Given the description of an element on the screen output the (x, y) to click on. 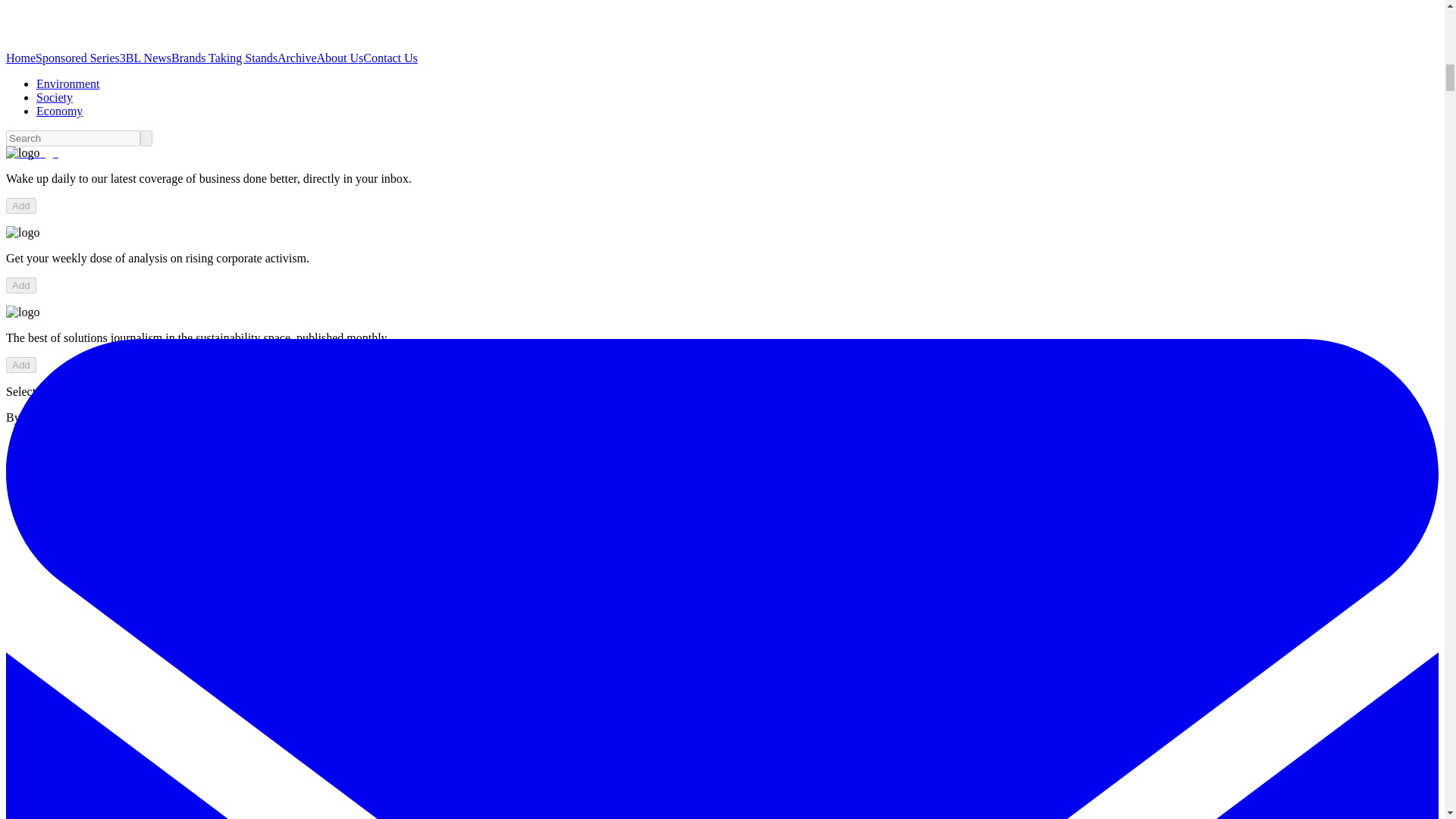
Add (20, 365)
Archive (297, 57)
Add (20, 205)
Environment (68, 83)
Society (54, 97)
About Us (340, 57)
privacy policy (193, 417)
Sponsored Series (76, 57)
Brands Taking Stands (224, 57)
Contact Us (389, 57)
Home (19, 57)
Economy (59, 110)
3BL News (145, 57)
Add (20, 285)
